Given the description of an element on the screen output the (x, y) to click on. 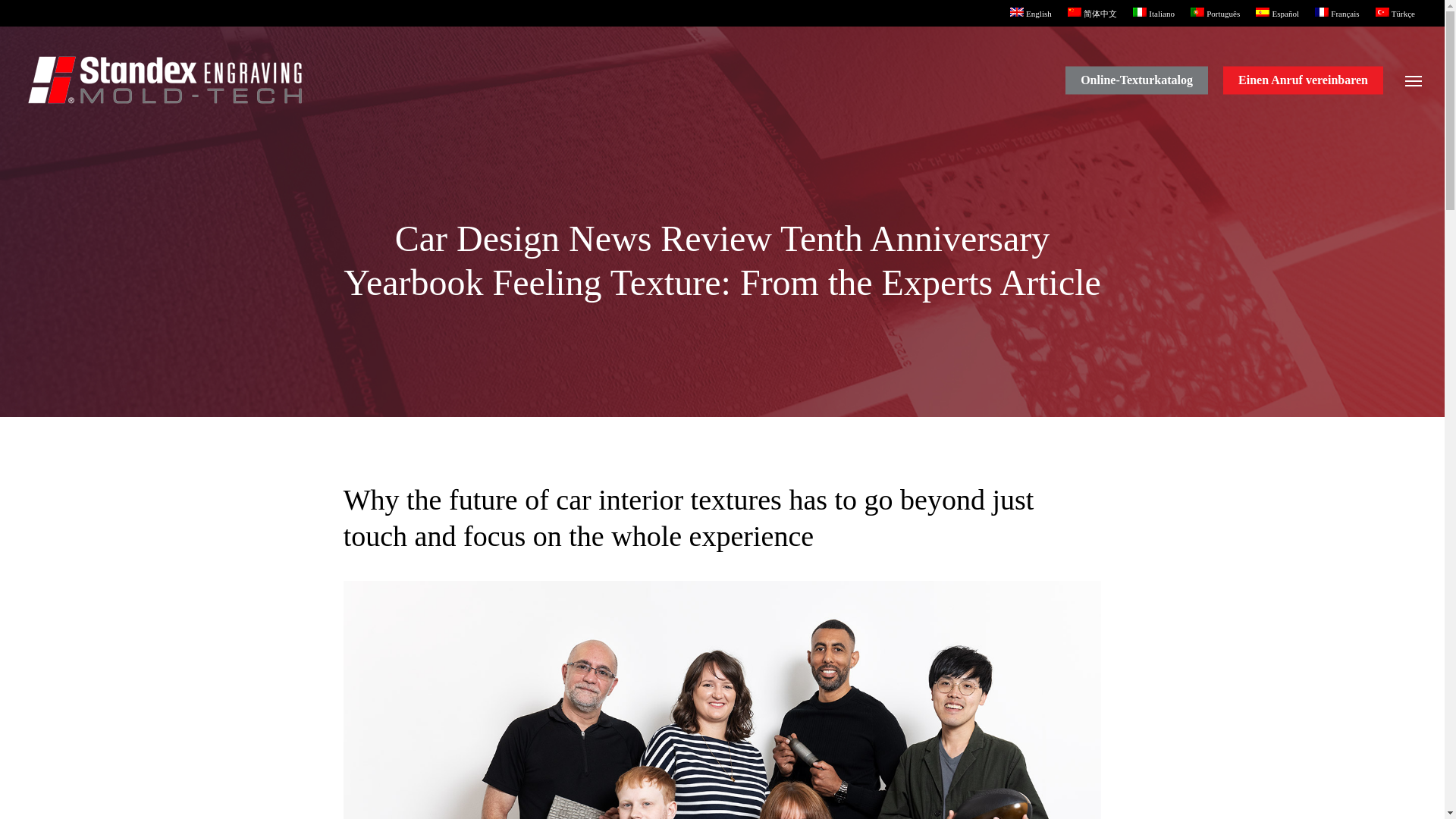
Italiano (1153, 12)
Einen Anruf vereinbaren (1303, 80)
Online-Texturkatalog (1136, 80)
Menu (1414, 79)
English (1030, 12)
Italiano (1153, 12)
English (1030, 12)
